Given the description of an element on the screen output the (x, y) to click on. 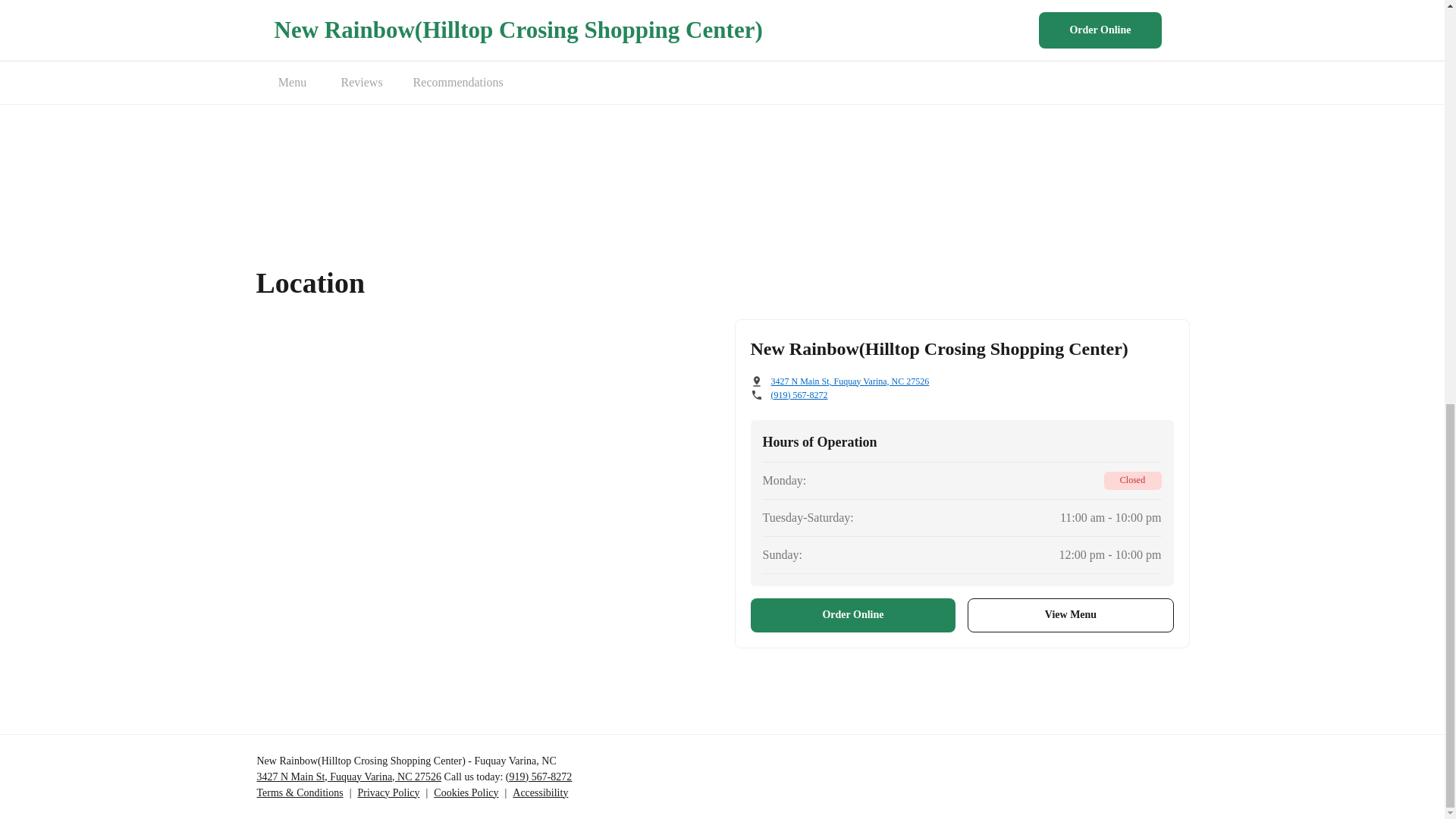
Order Online (853, 615)
3427 N Main St, Fuquay Varina, NC 27526 (348, 776)
Privacy Policy (387, 792)
View Menu (1070, 615)
Accessibility (539, 792)
Cookies Policy (465, 792)
3427 N Main St, Fuquay Varina, NC 27526 (849, 381)
